Given the description of an element on the screen output the (x, y) to click on. 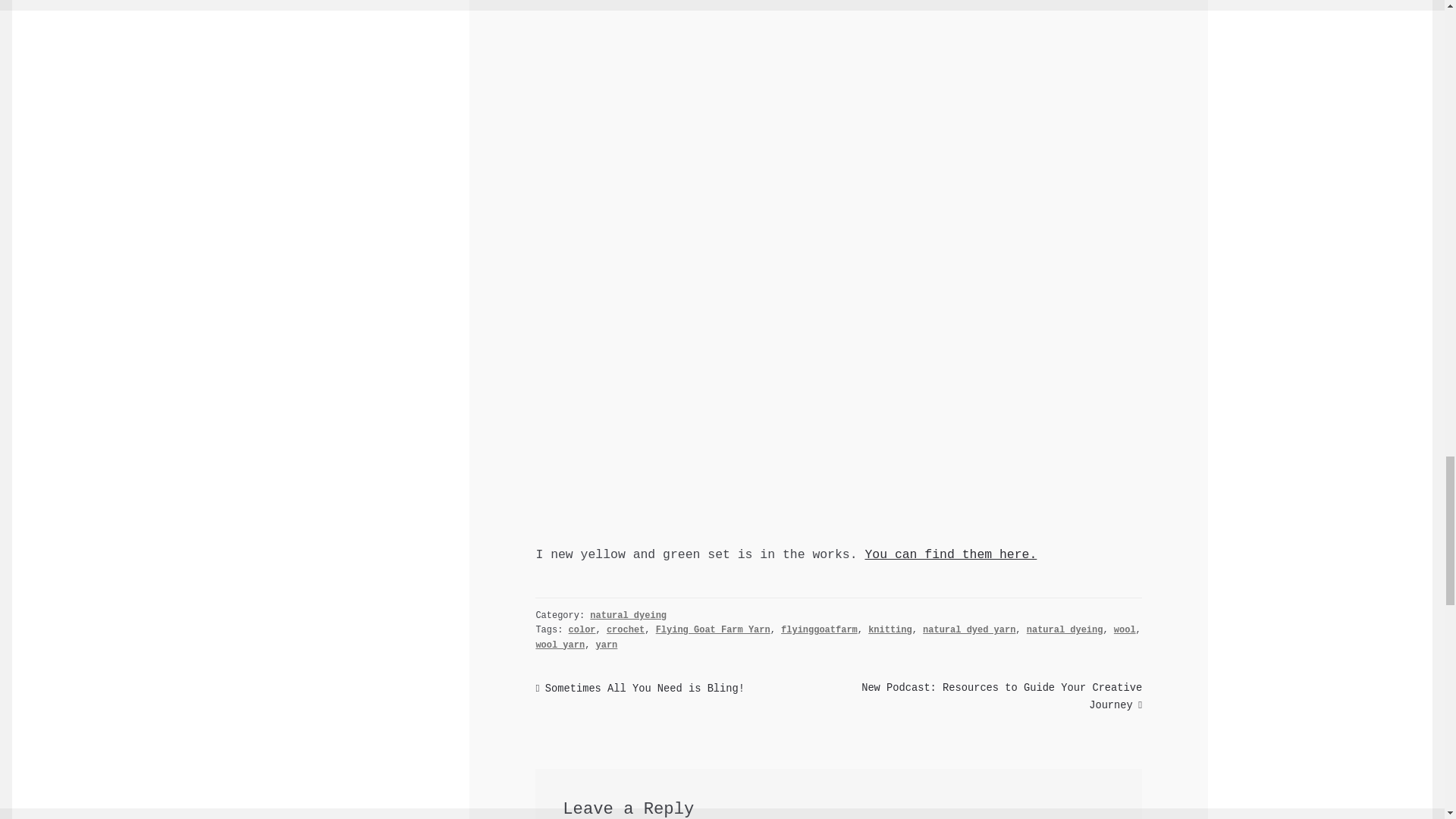
PolyPay Wild (950, 554)
color (582, 629)
You can find them here. (950, 554)
natural dyeing (627, 615)
